Given the description of an element on the screen output the (x, y) to click on. 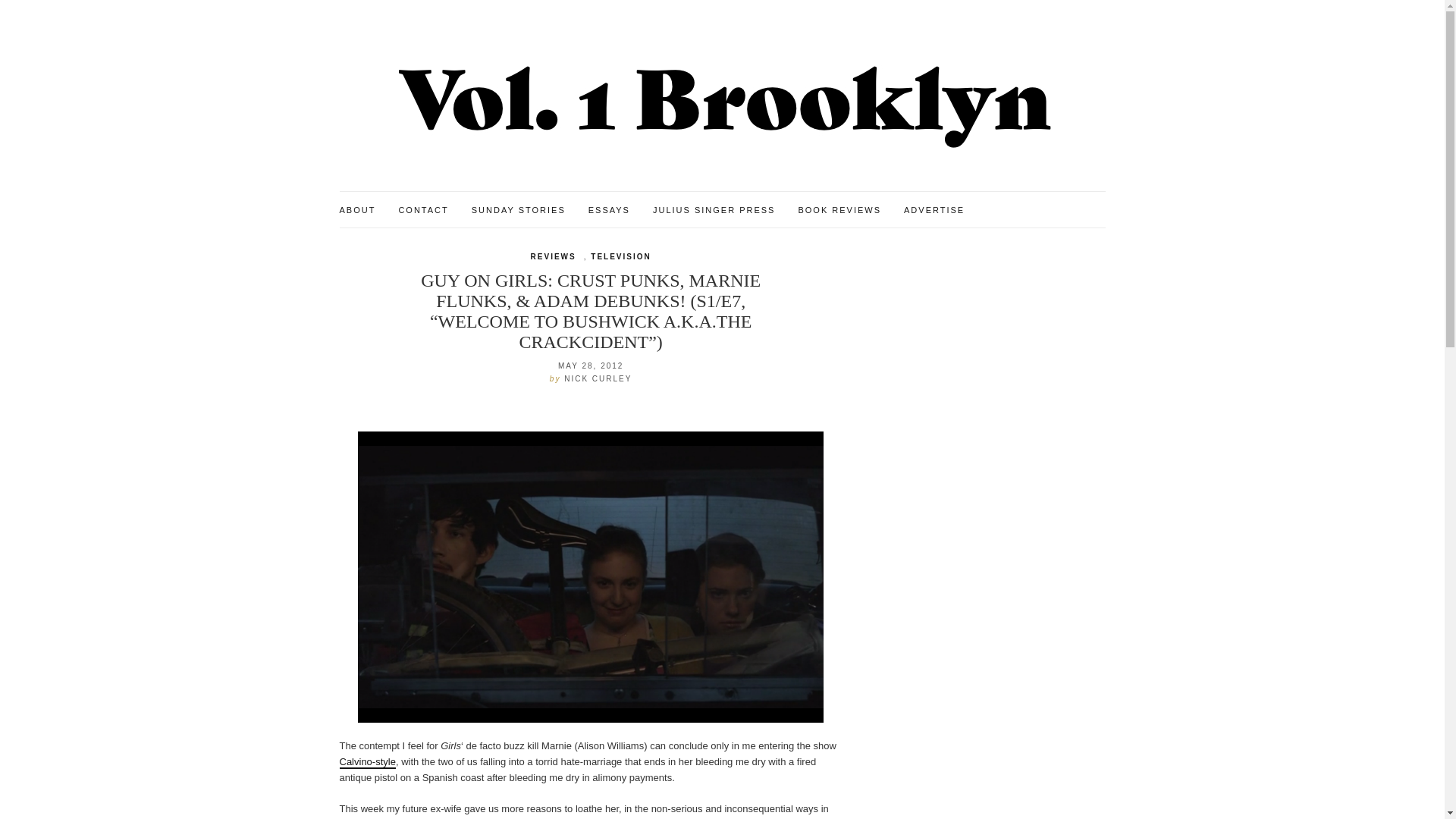
SUNDAY STORIES (518, 210)
CONTACT (422, 210)
ESSAYS (609, 210)
Calvino-style (367, 762)
JULIUS SINGER PRESS (713, 210)
BOOK REVIEWS (838, 210)
REVIEWS (553, 256)
by (557, 378)
ADVERTISE (933, 210)
